Given the description of an element on the screen output the (x, y) to click on. 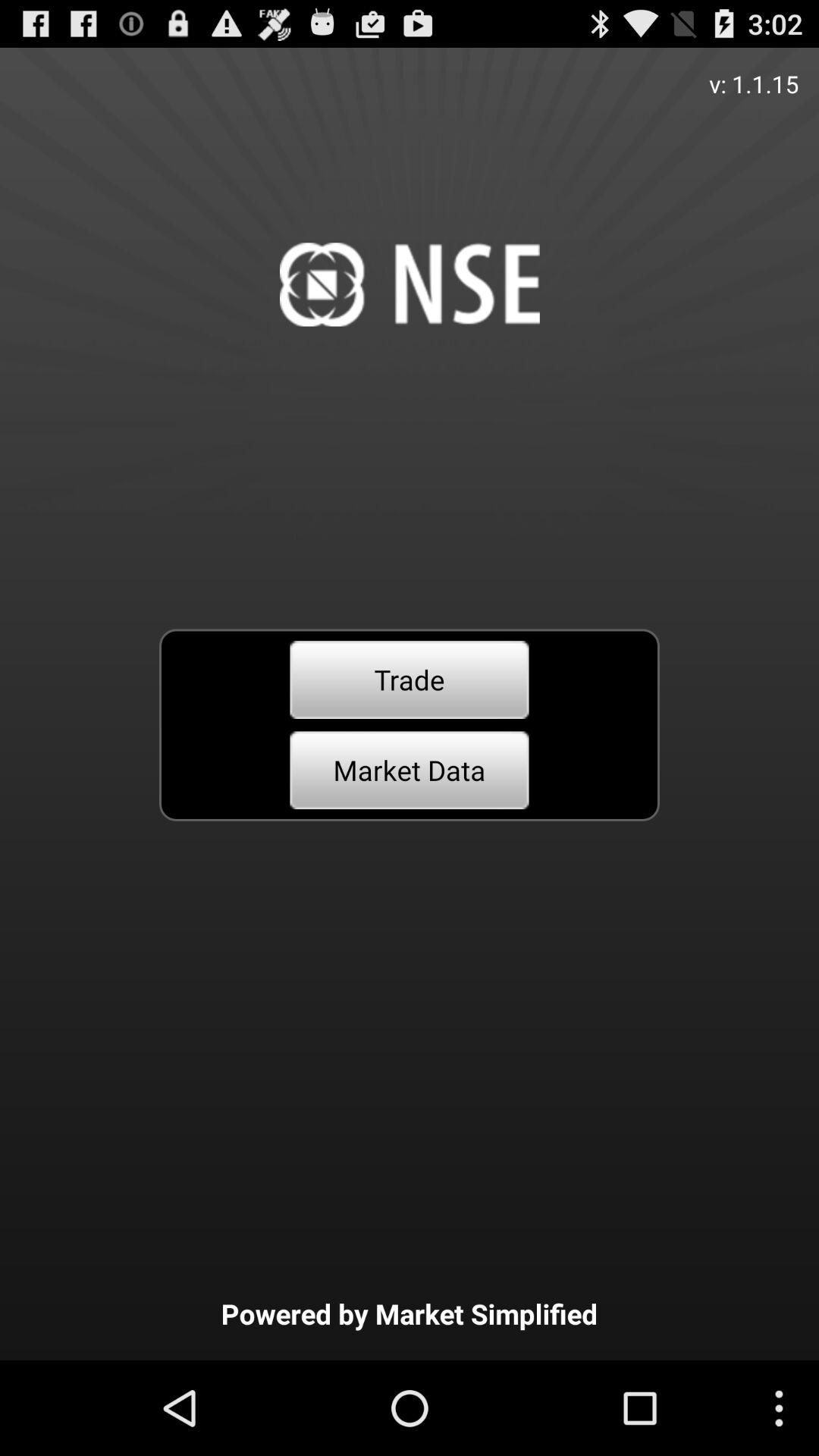
swipe to market data button (409, 770)
